Given the description of an element on the screen output the (x, y) to click on. 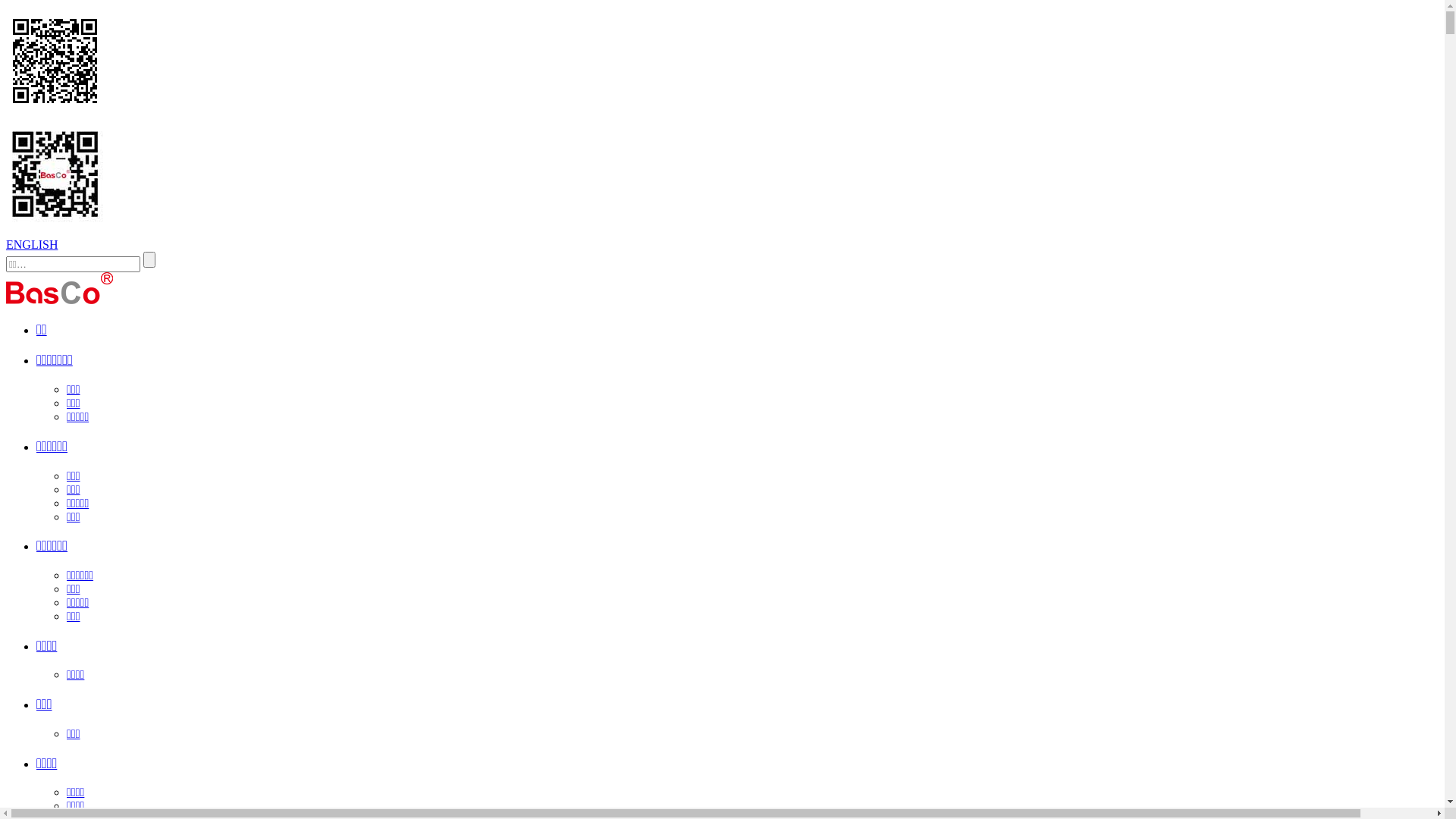
ENGLISH Element type: text (31, 244)
